Given the description of an element on the screen output the (x, y) to click on. 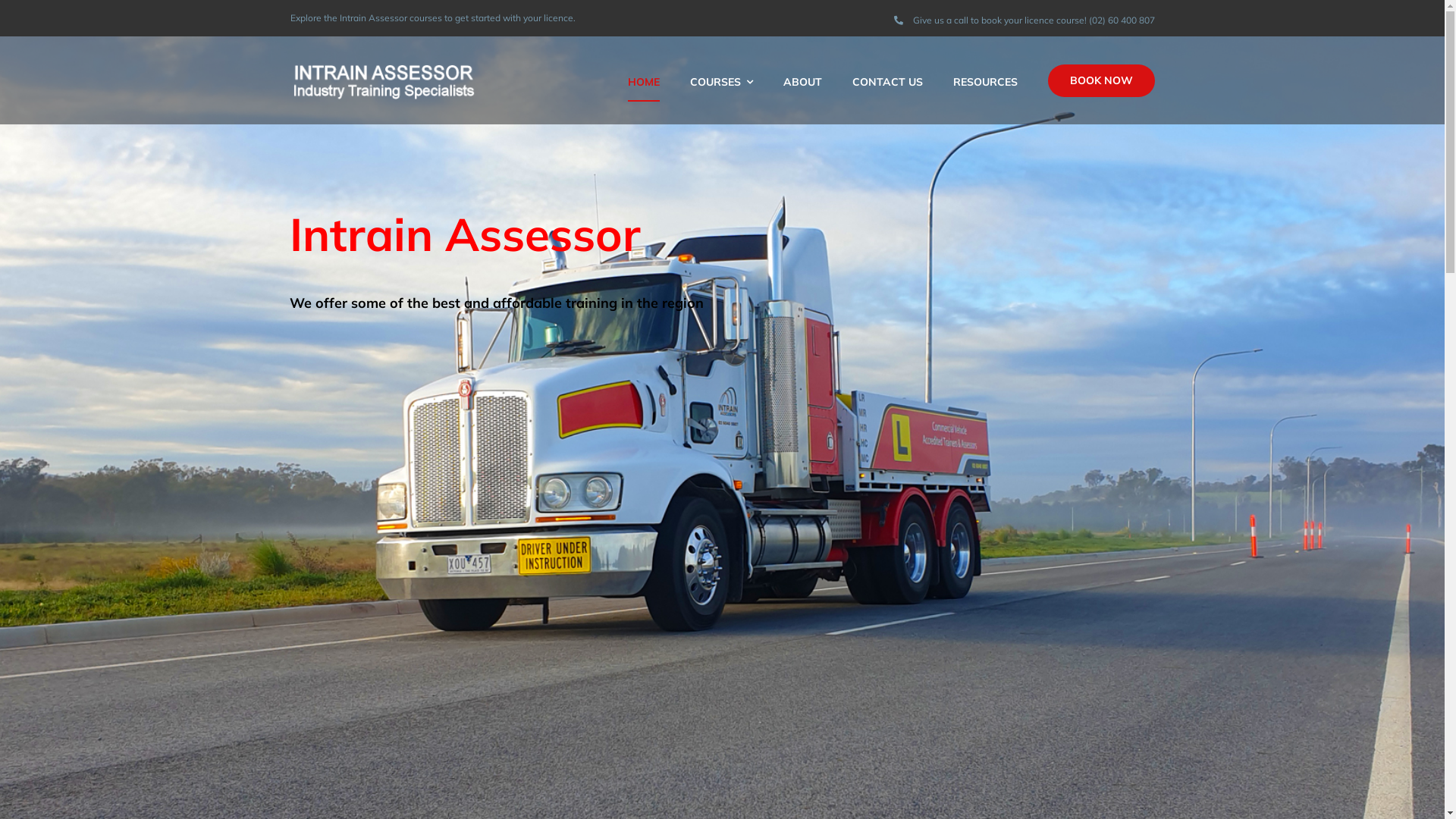
COURSES Element type: text (721, 80)
ABOUT Element type: text (801, 80)
HOME Element type: text (643, 80)
BOOK NOW Element type: text (1101, 80)
CONTACT US Element type: text (887, 80)
RESOURCES Element type: text (984, 80)
